Given the description of an element on the screen output the (x, y) to click on. 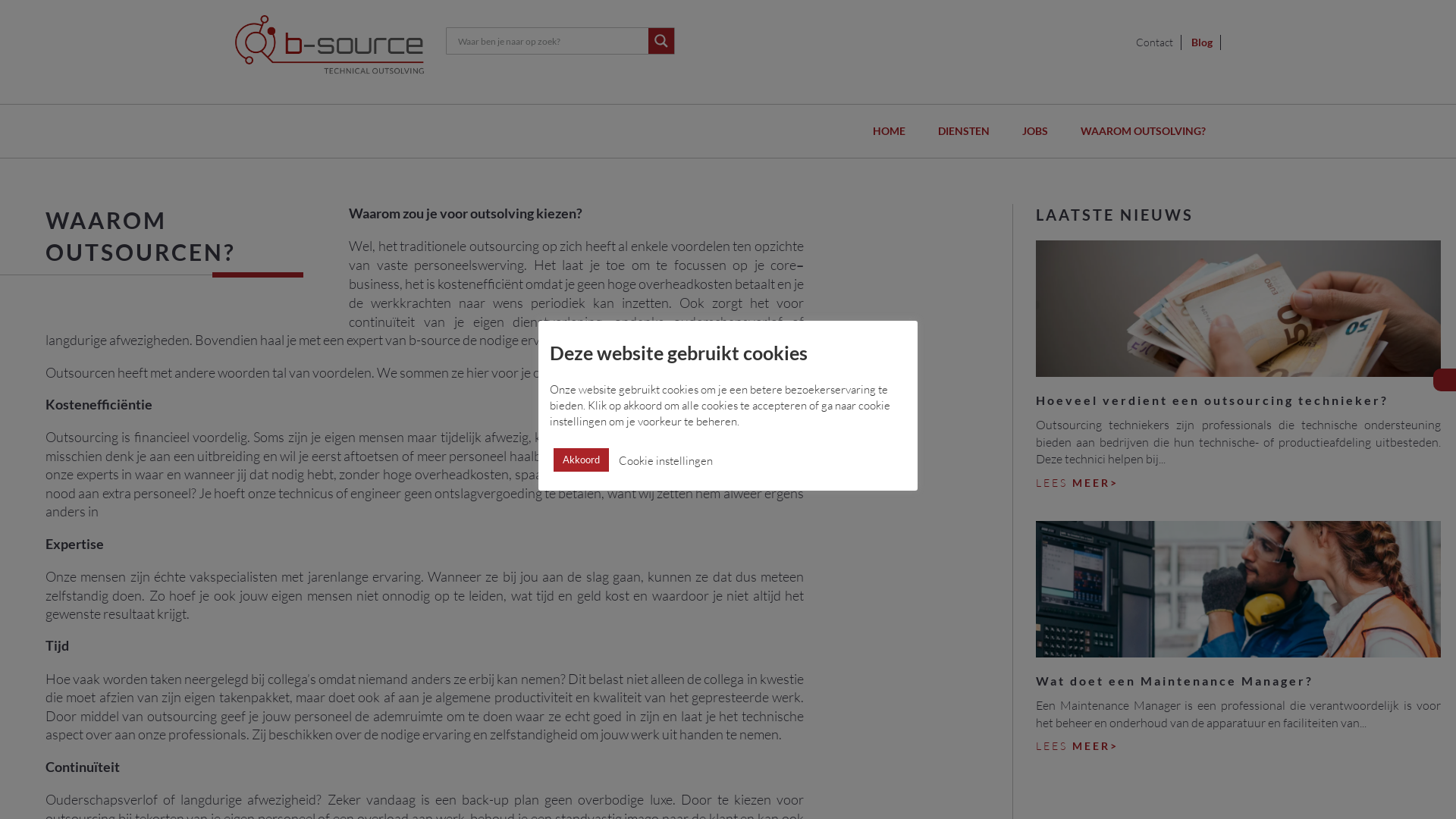
WAAROM OUTSOLVING? Element type: text (1142, 130)
LEES MEER Element type: text (1076, 482)
Cookie instellingen Element type: text (665, 460)
Akkoord Element type: text (580, 459)
DIENSTEN Element type: text (963, 130)
LEES MEER Element type: text (1076, 745)
Blog Element type: text (1201, 42)
JOBS Element type: text (1035, 130)
Contact Element type: text (1154, 42)
HOME Element type: text (888, 130)
